Given the description of an element on the screen output the (x, y) to click on. 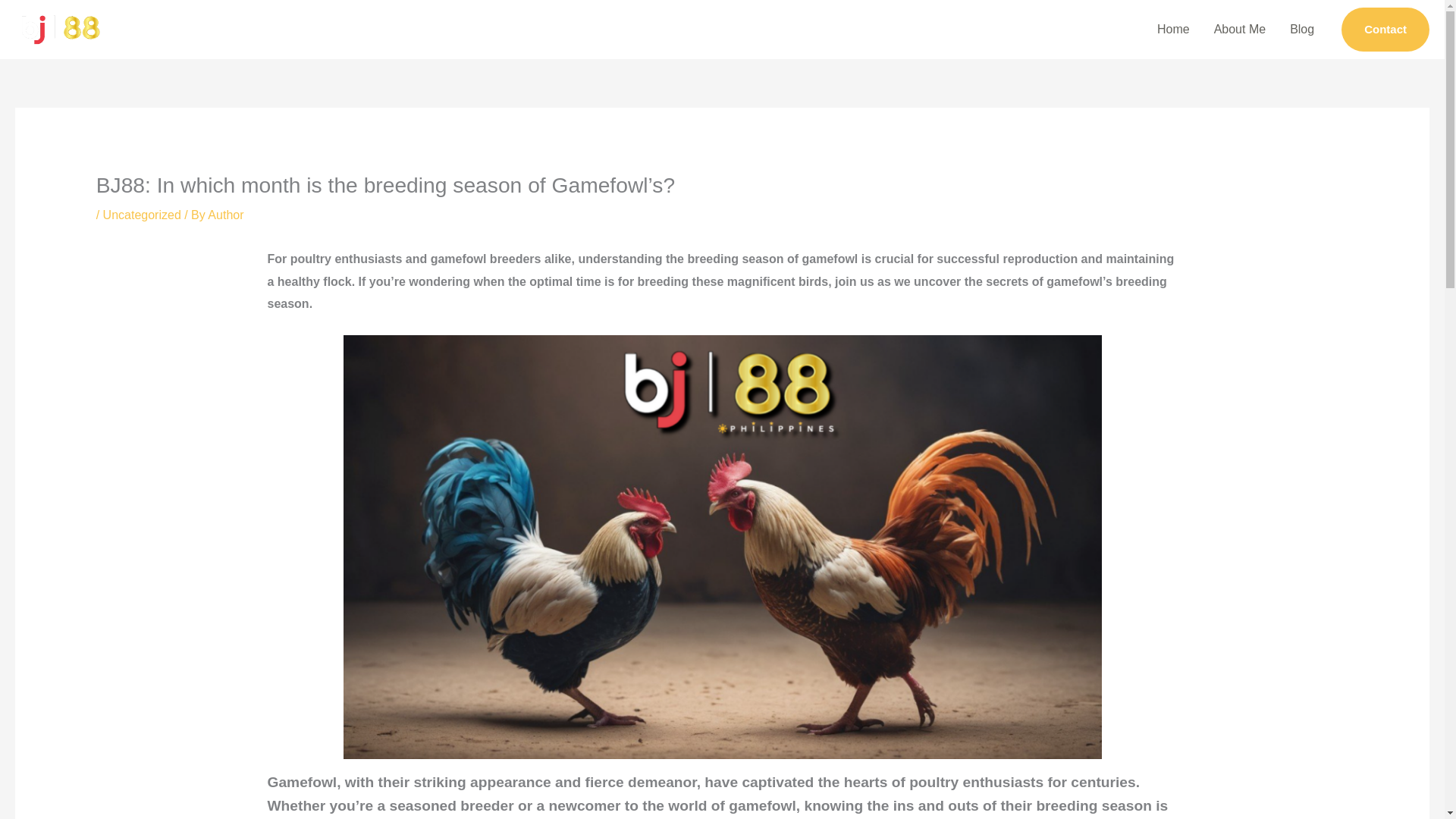
Contact (1384, 29)
Home (1173, 29)
About Me (1240, 29)
Author (225, 214)
View all posts by Author (225, 214)
Uncategorized (141, 214)
Blog (1302, 29)
